Given the description of an element on the screen output the (x, y) to click on. 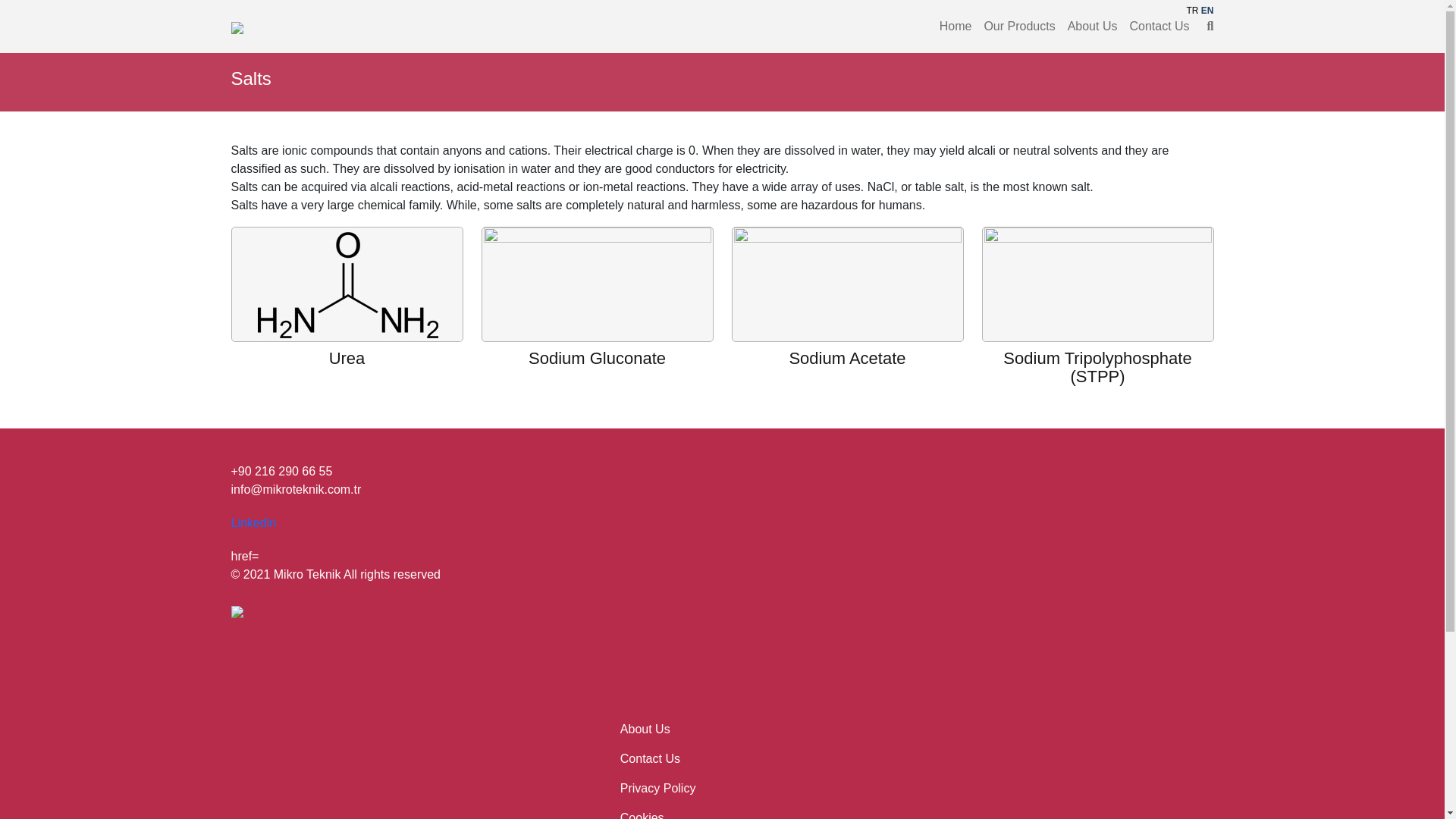
About Us (644, 728)
About Us (644, 728)
Home (955, 26)
Sodium Acetate (847, 357)
About Us (1092, 26)
EN (1207, 9)
Linkedln (253, 522)
Privacy Policy (657, 788)
Privacy Policy (657, 788)
Contact Us (649, 758)
Cookies (641, 815)
Urea (347, 357)
TR (1192, 9)
Sodium Gluconate (597, 282)
Sodium Gluconate (596, 357)
